Given the description of an element on the screen output the (x, y) to click on. 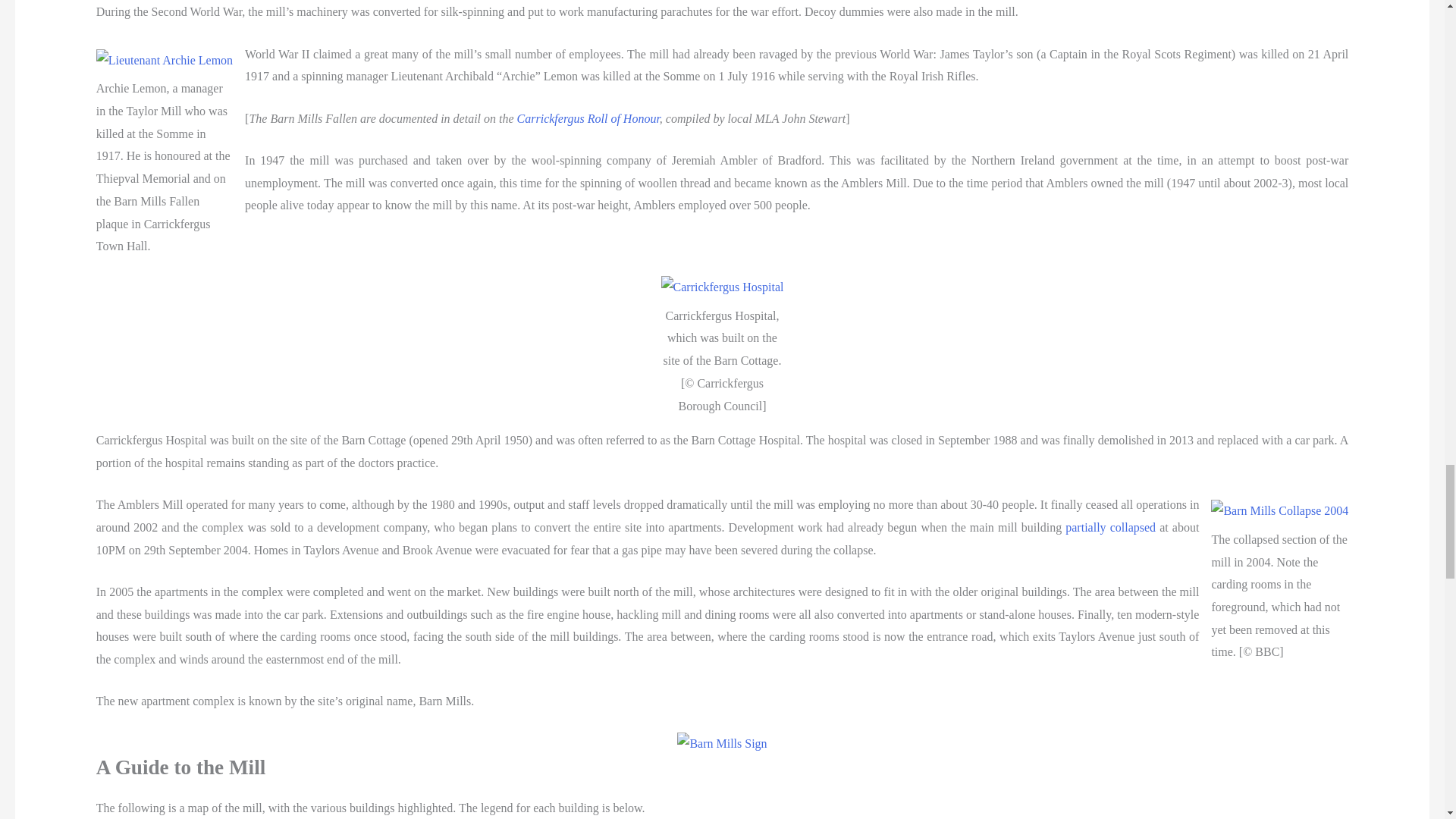
The Barn Mills Fallen (587, 118)
Carrickfergus Roll of Honour (587, 118)
Barn Mills Collapse, Building Partially Searched (1110, 526)
partially collapsed (1110, 526)
